Given the description of an element on the screen output the (x, y) to click on. 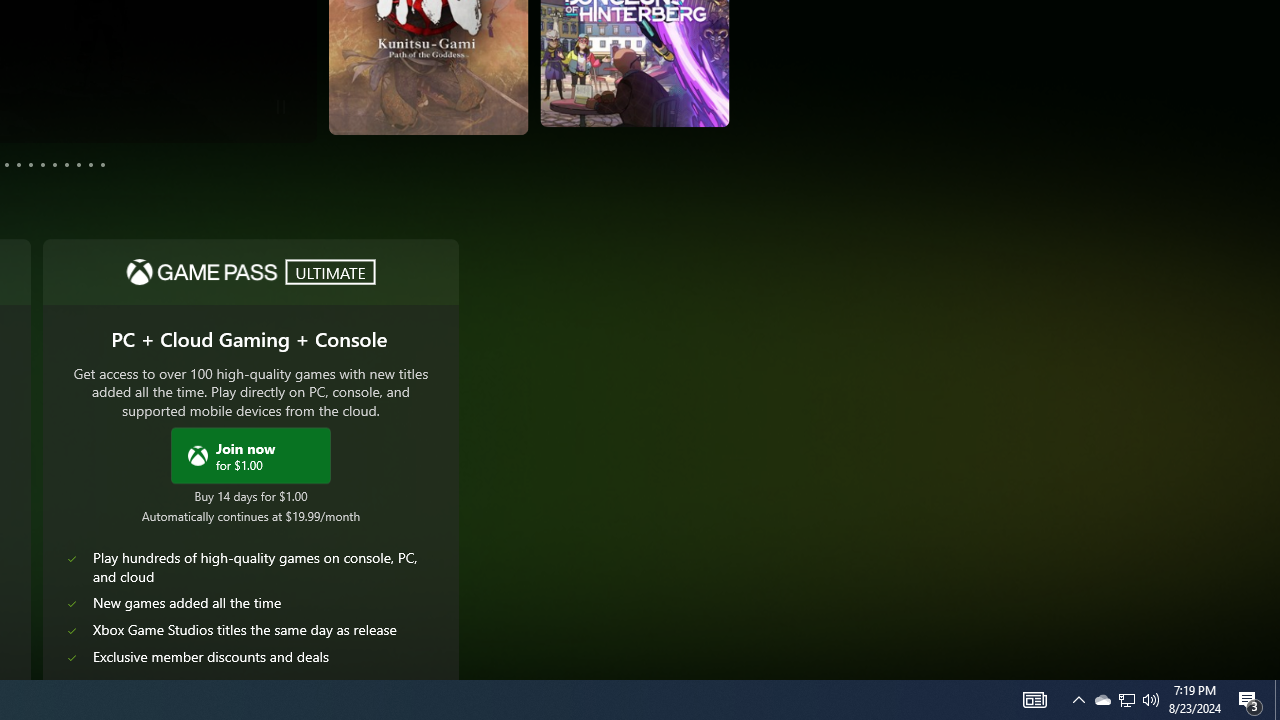
Page 9 (66, 164)
